Given the description of an element on the screen output the (x, y) to click on. 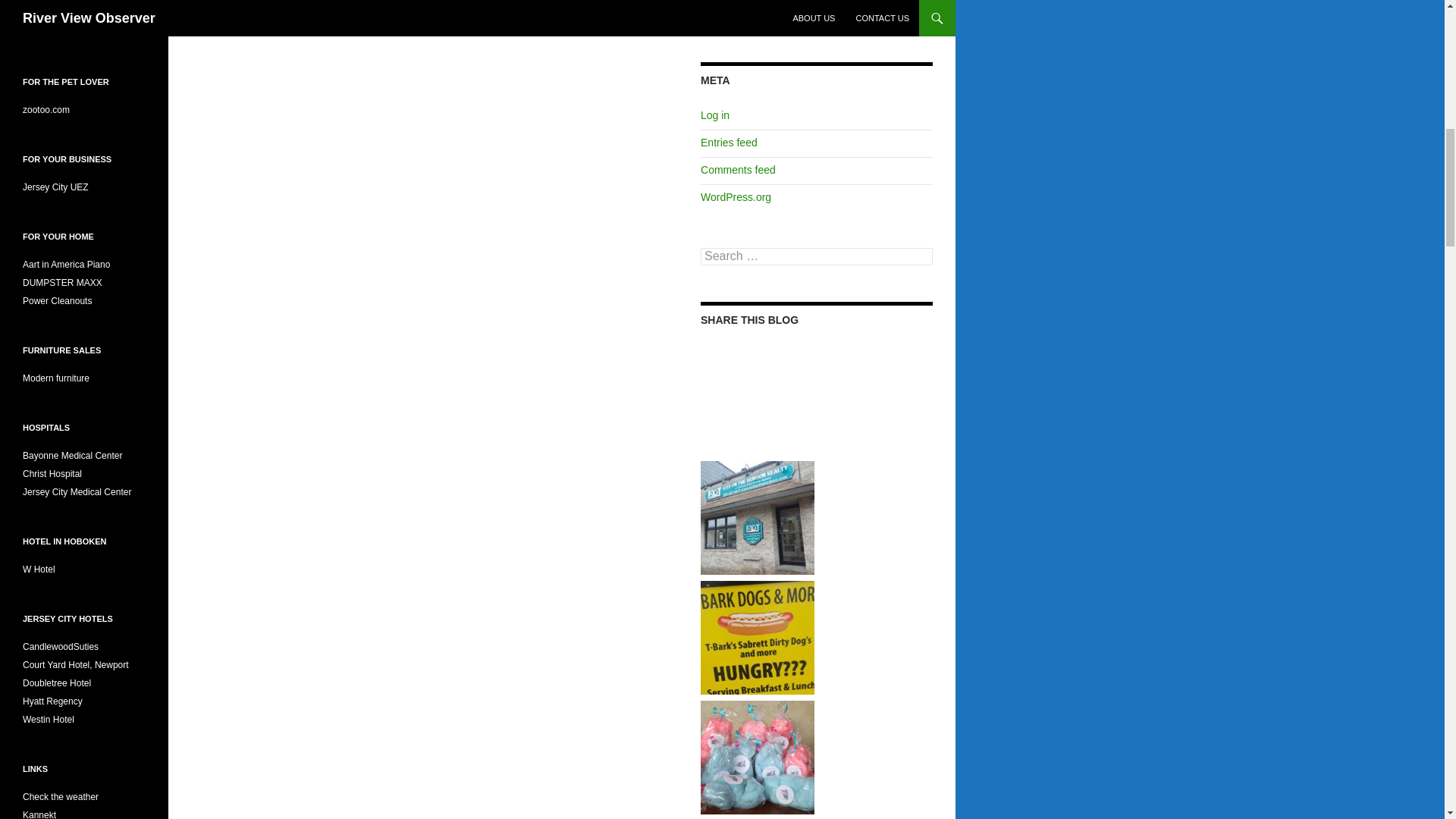
T-Barks Foods and more (756, 635)
Maple Magic Confectionery (756, 756)
Exit On the Hudson Realty (756, 516)
